Given the description of an element on the screen output the (x, y) to click on. 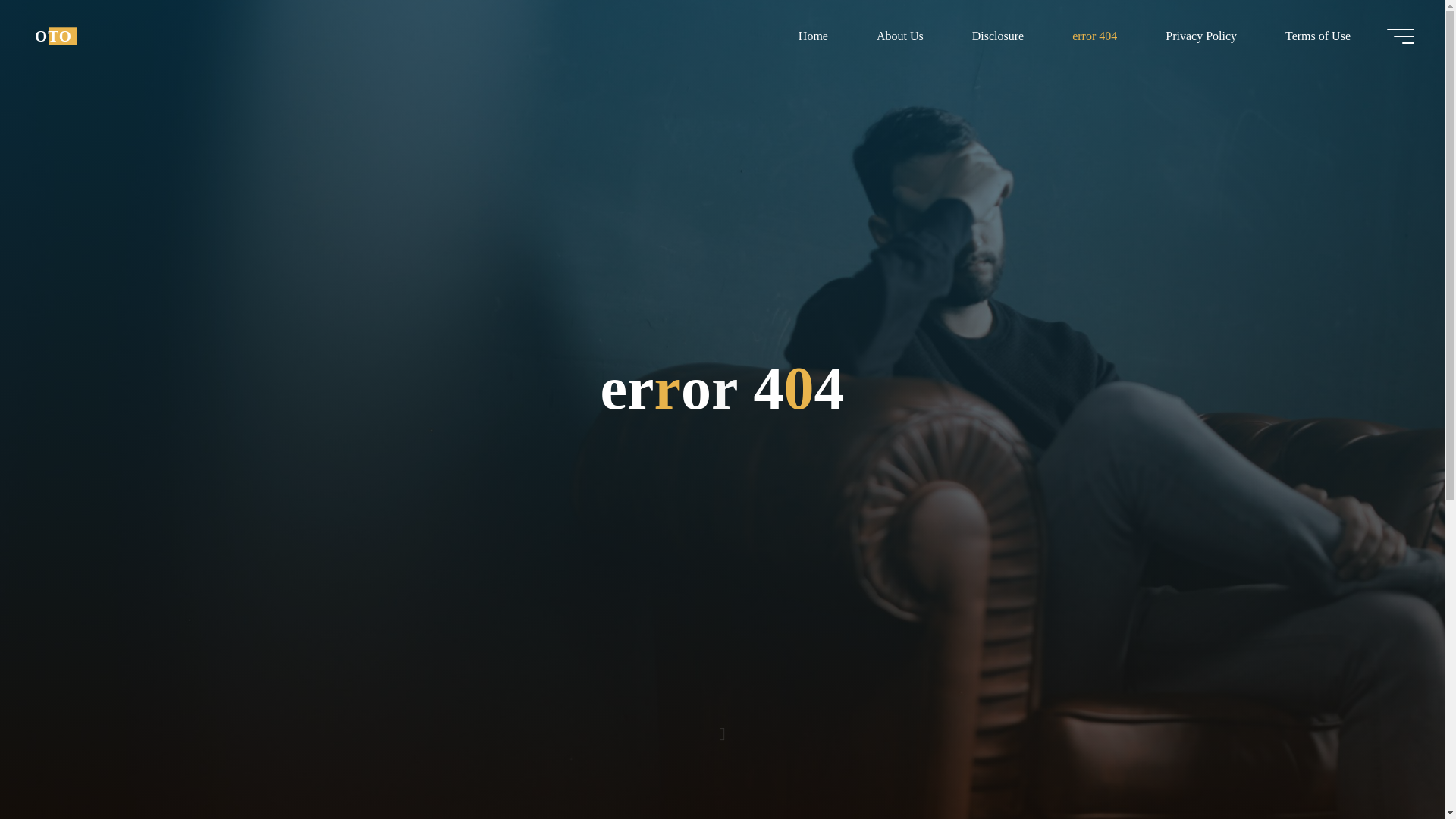
Privacy Policy (1200, 35)
About Us (899, 35)
Read more (721, 724)
error 404 (1094, 35)
OTO (53, 36)
Disclosure (997, 35)
Home (812, 35)
Terms of Use (1317, 35)
